Given the description of an element on the screen output the (x, y) to click on. 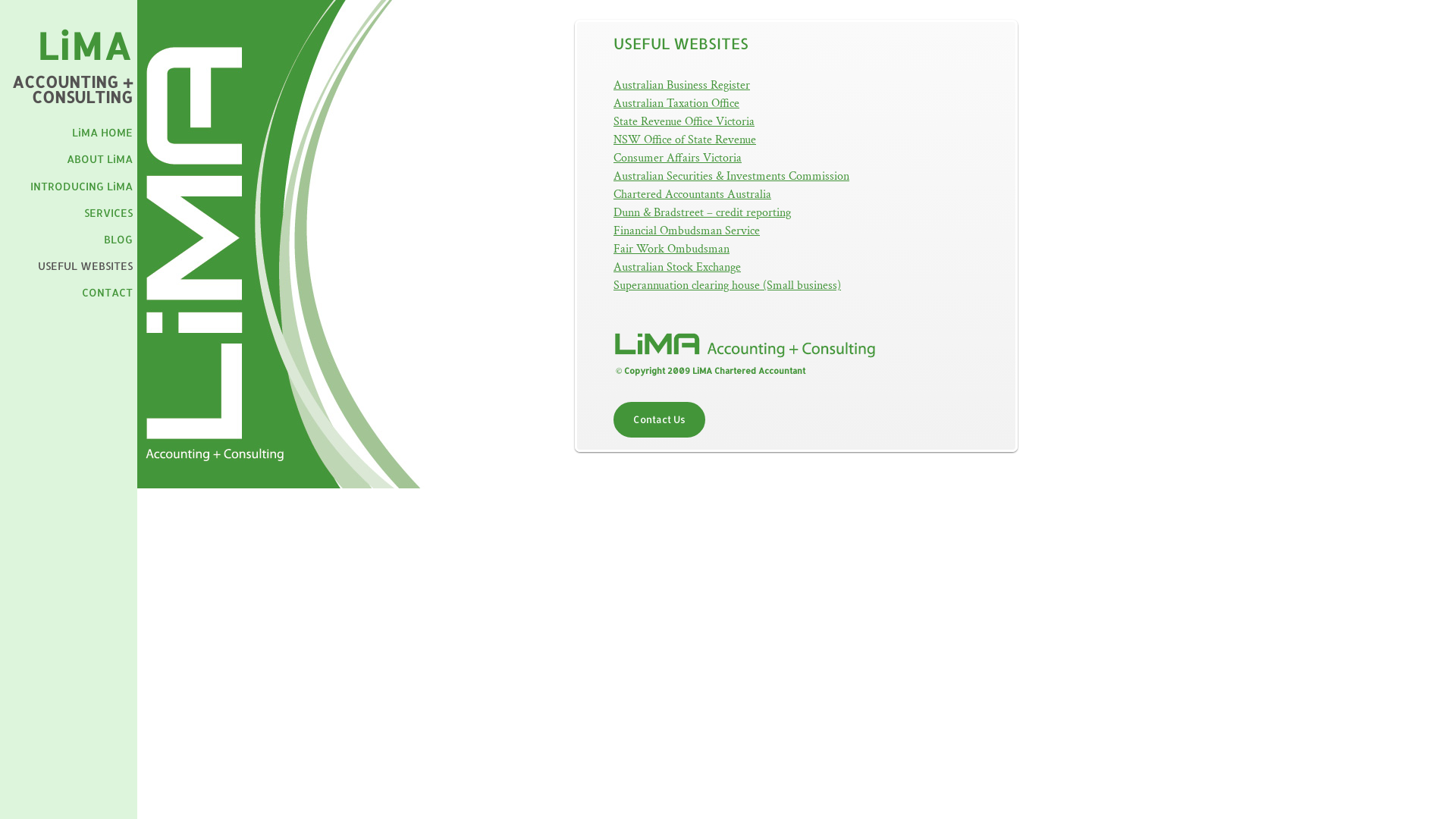
SERVICES Element type: text (108, 212)
Superannuation clearing house (Small business) Element type: text (726, 285)
Chartered Accountants Australia Element type: text (692, 194)
Australian Taxation Office Element type: text (676, 103)
CONTACT Element type: text (106, 291)
Fair Work Ombudsman Element type: text (671, 249)
ABOUT LiMA Element type: text (99, 158)
Contact Us Element type: text (659, 419)
LiMA Element type: text (84, 45)
USEFUL WEBSITES Element type: text (84, 265)
Australian Securities & Investments Commission Element type: text (731, 176)
LiMA HOME Element type: text (102, 131)
Australian Business Register Element type: text (681, 85)
Australian Stock Exchange Element type: text (676, 267)
BLOG Element type: text (117, 238)
INTRODUCING LiMA Element type: text (81, 185)
Financial Ombudsman Service Element type: text (686, 230)
NSW Office of State Revenue Element type: text (684, 139)
State Revenue Office Victoria Element type: text (683, 121)
Consumer Affairs Victoria Element type: text (677, 158)
